Given the description of an element on the screen output the (x, y) to click on. 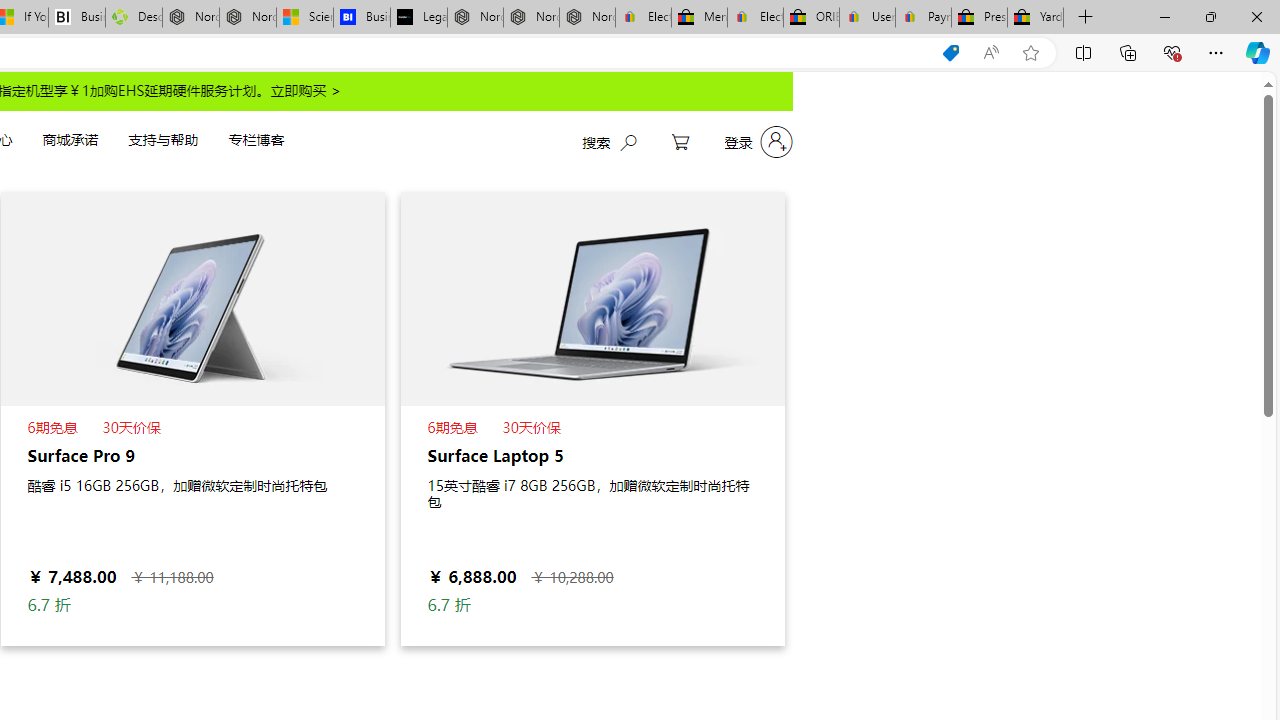
Settings and more (Alt+F) (1215, 52)
My Cart (679, 142)
User Privacy Notice | eBay (866, 17)
Electronics, Cars, Fashion, Collectibles & More | eBay (755, 17)
Close (1256, 16)
Surface Pro 9 (192, 417)
